Given the description of an element on the screen output the (x, y) to click on. 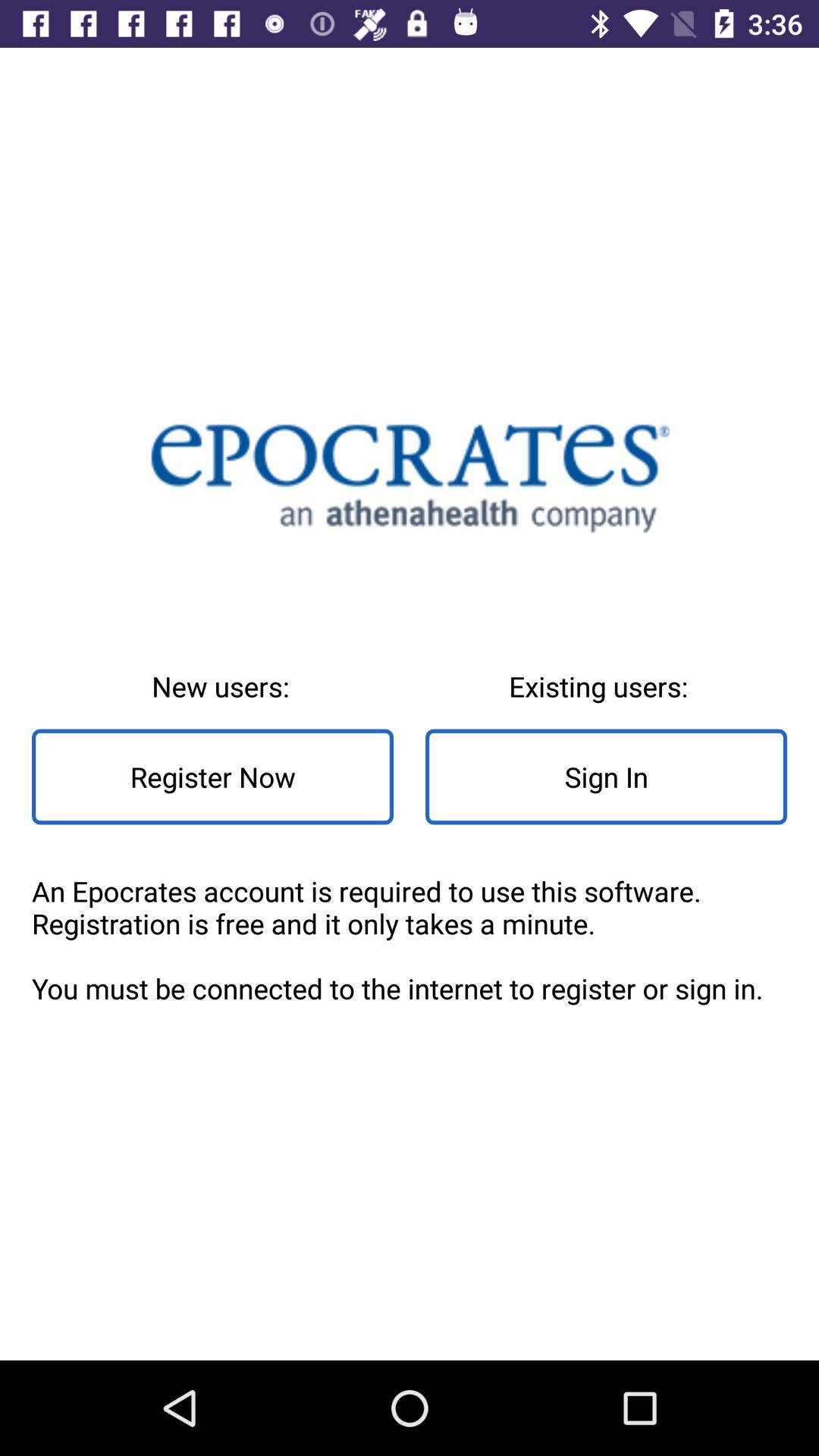
jump until sign in (606, 776)
